Given the description of an element on the screen output the (x, y) to click on. 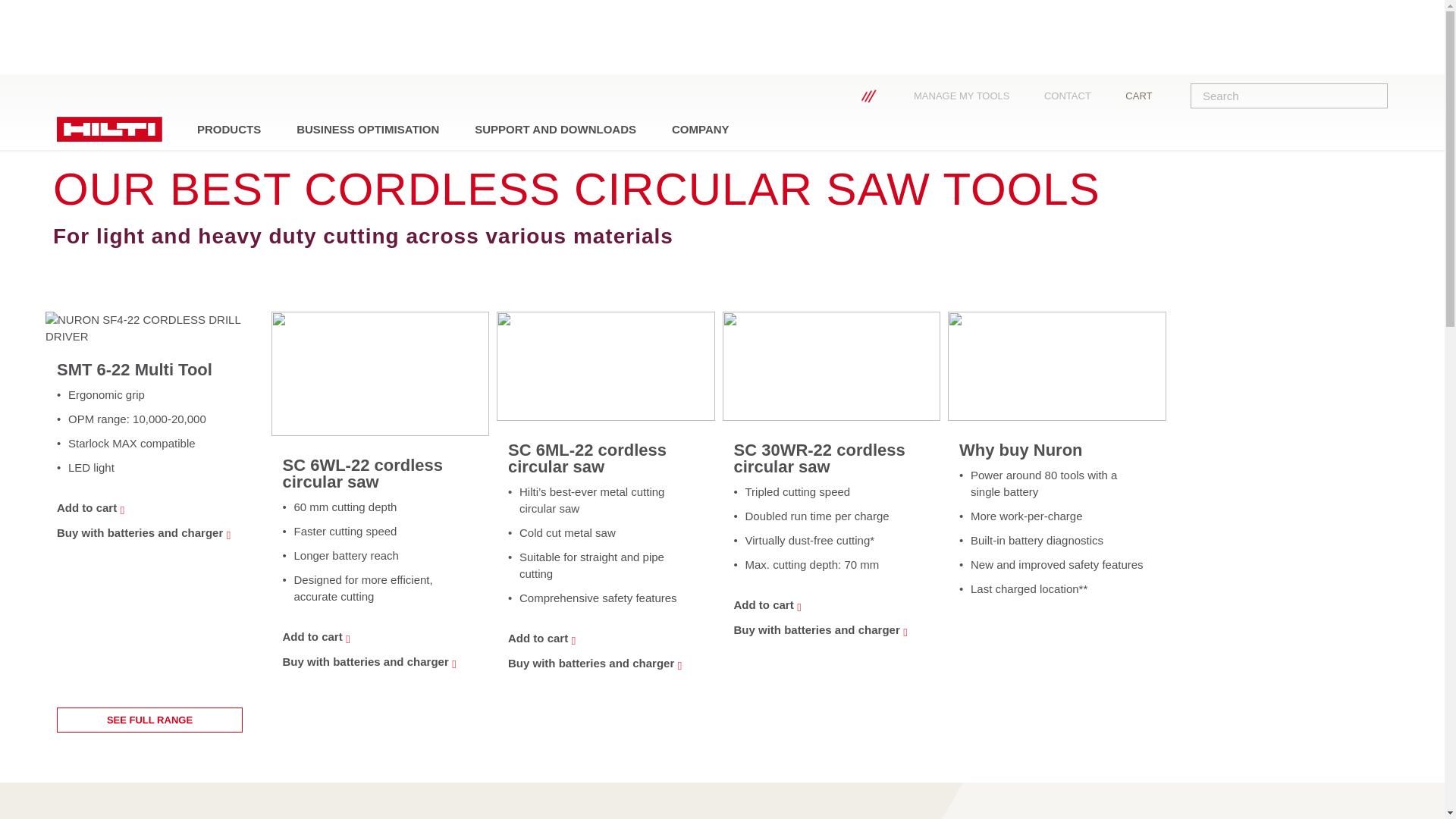
BUSINESS OPTIMISATION (367, 129)
PRODUCTS (229, 129)
SUPPORT AND DOWNLOADS (555, 129)
Home (73, 141)
SEE FULL RANGE (149, 719)
Add to cart (376, 636)
Add to cart (827, 605)
LOGIN OR REGISTER (839, 95)
View now (912, 95)
